Given the description of an element on the screen output the (x, y) to click on. 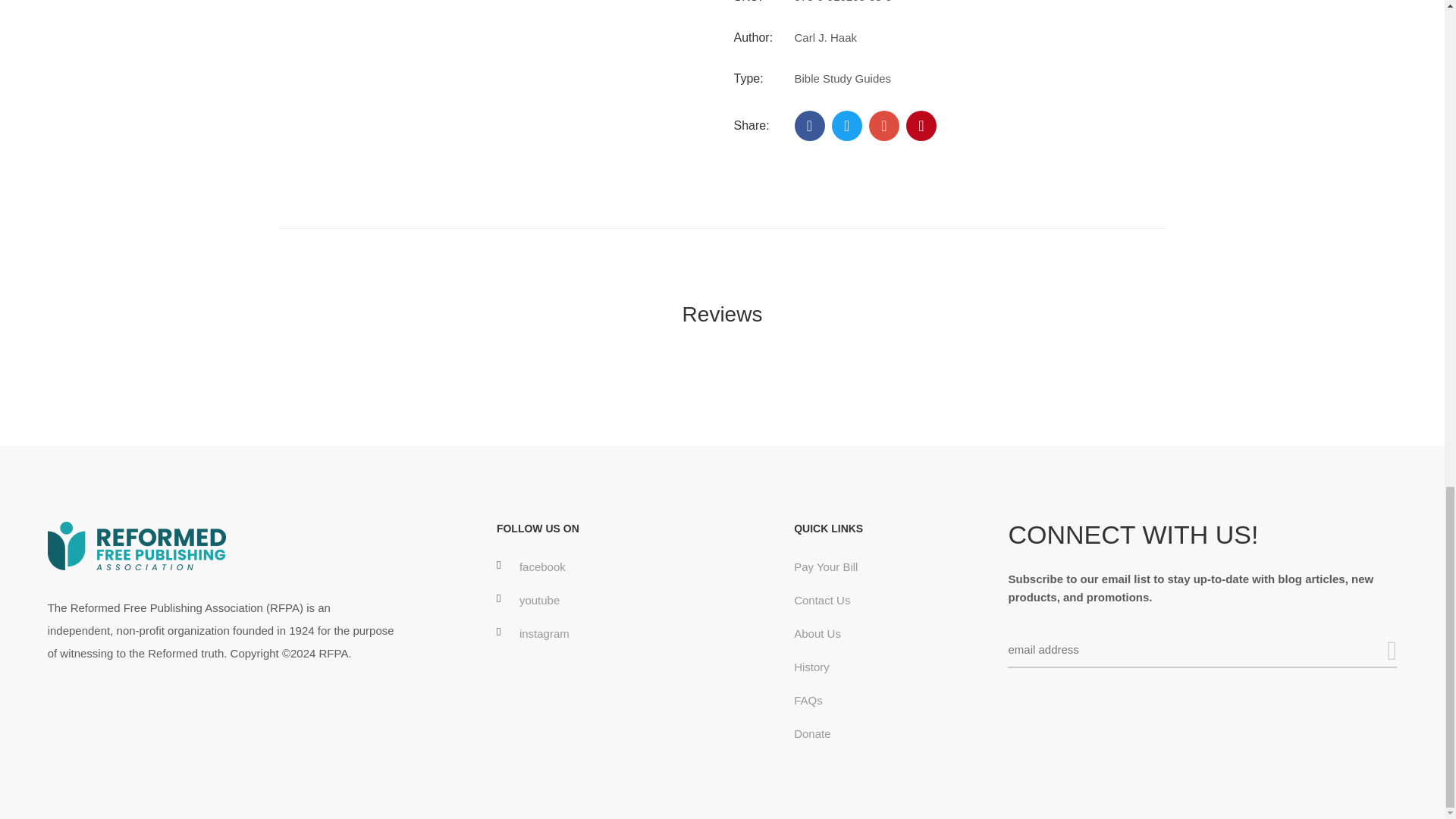
Follow us on Pinterest (920, 125)
Follow us on Facebook (809, 125)
Follow us on Twitter (846, 125)
